Given the description of an element on the screen output the (x, y) to click on. 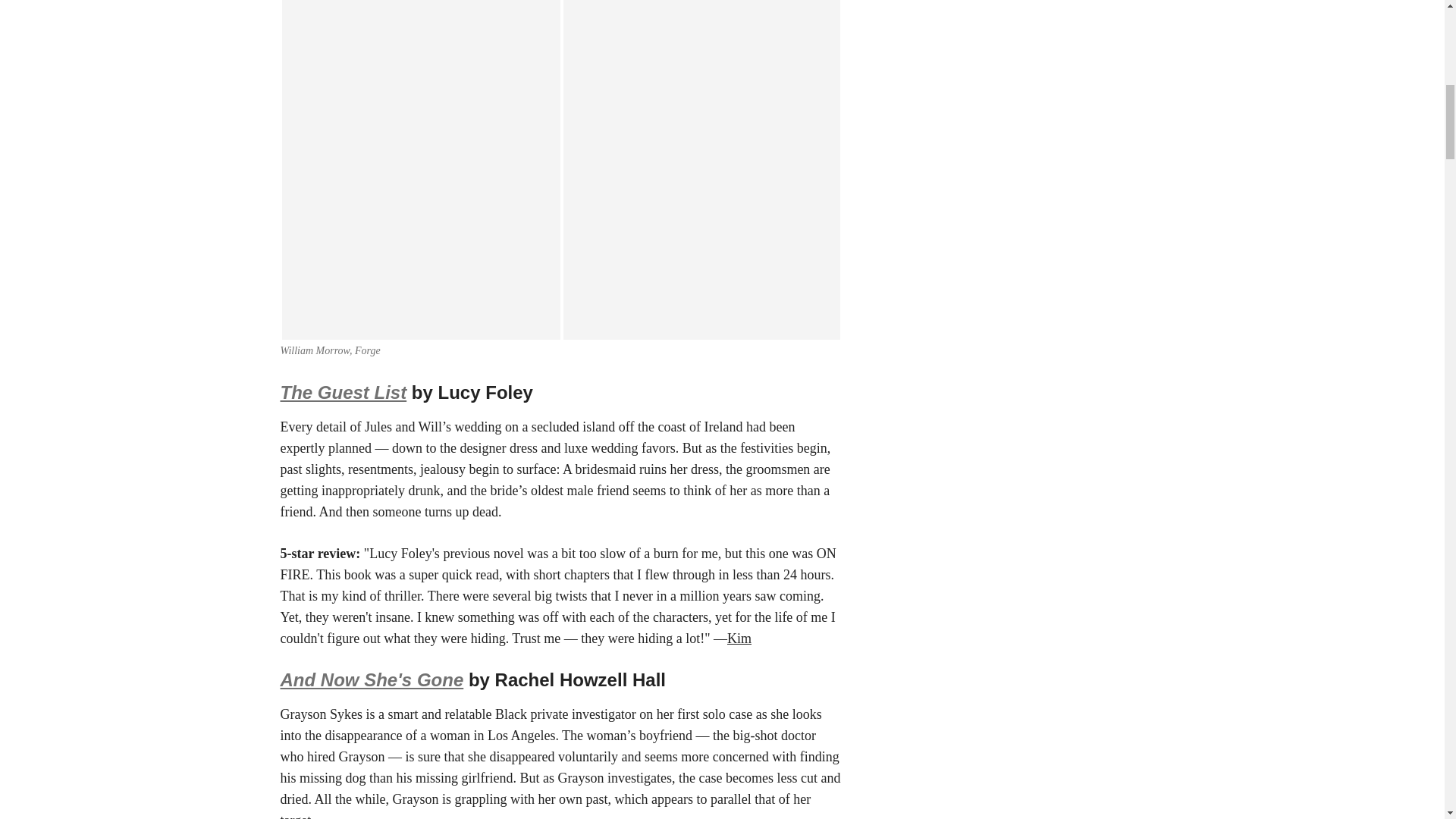
Kim (738, 638)
And Now She's Gone (372, 679)
The Guest List (344, 392)
